Given the description of an element on the screen output the (x, y) to click on. 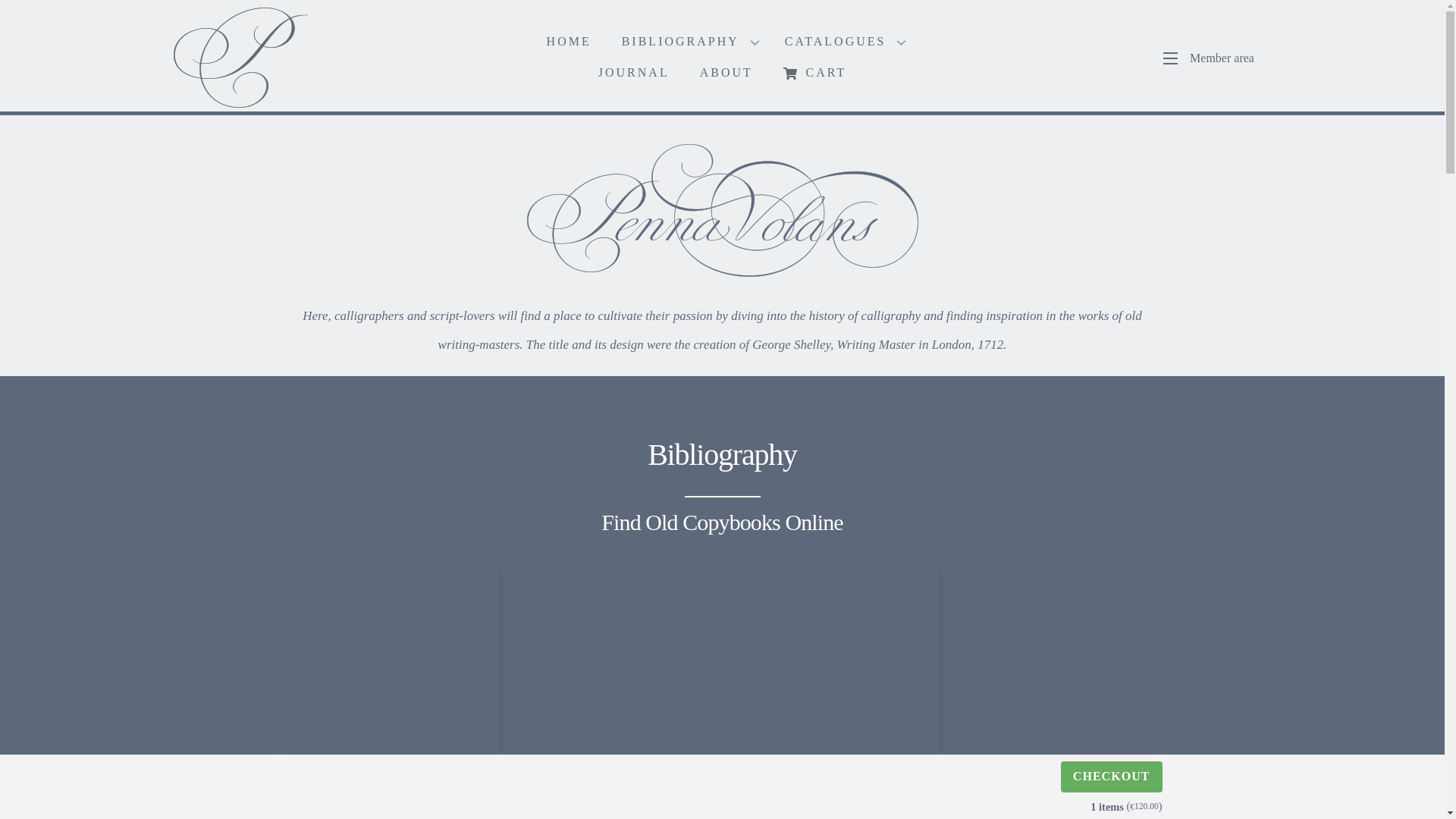
Login (1057, 520)
ABOUT (726, 72)
HOME (569, 41)
CART (814, 72)
JOURNAL (633, 72)
CATALOGUES (843, 41)
Home (721, 210)
Home (240, 57)
Member area (1203, 57)
